Given the description of an element on the screen output the (x, y) to click on. 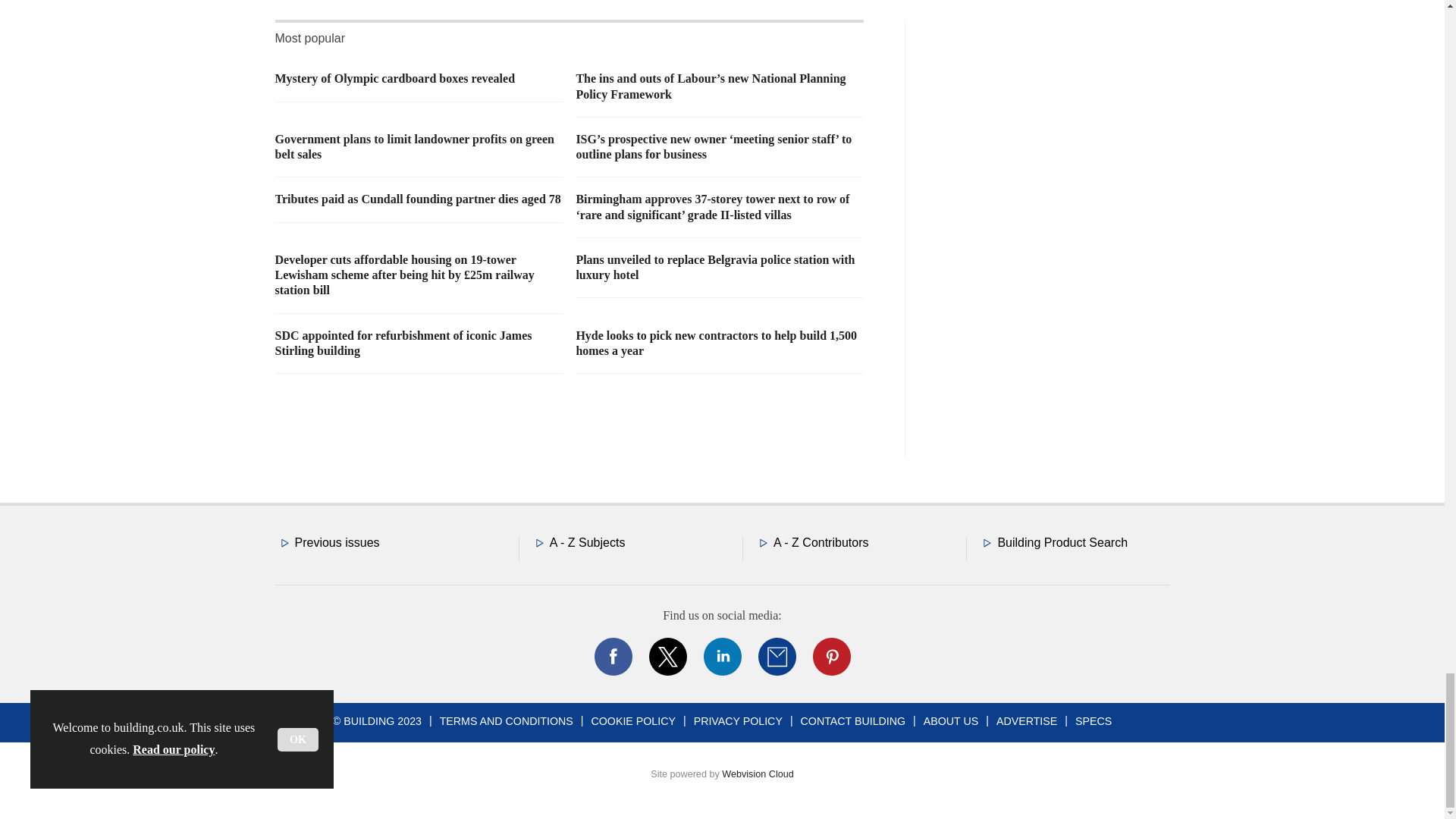
Email us (776, 656)
Connect with us on Pinterest (830, 656)
Connect with us on Twitter (667, 656)
Connect with us on Facebook (611, 656)
Connect with us on Linked in (721, 656)
